Given the description of an element on the screen output the (x, y) to click on. 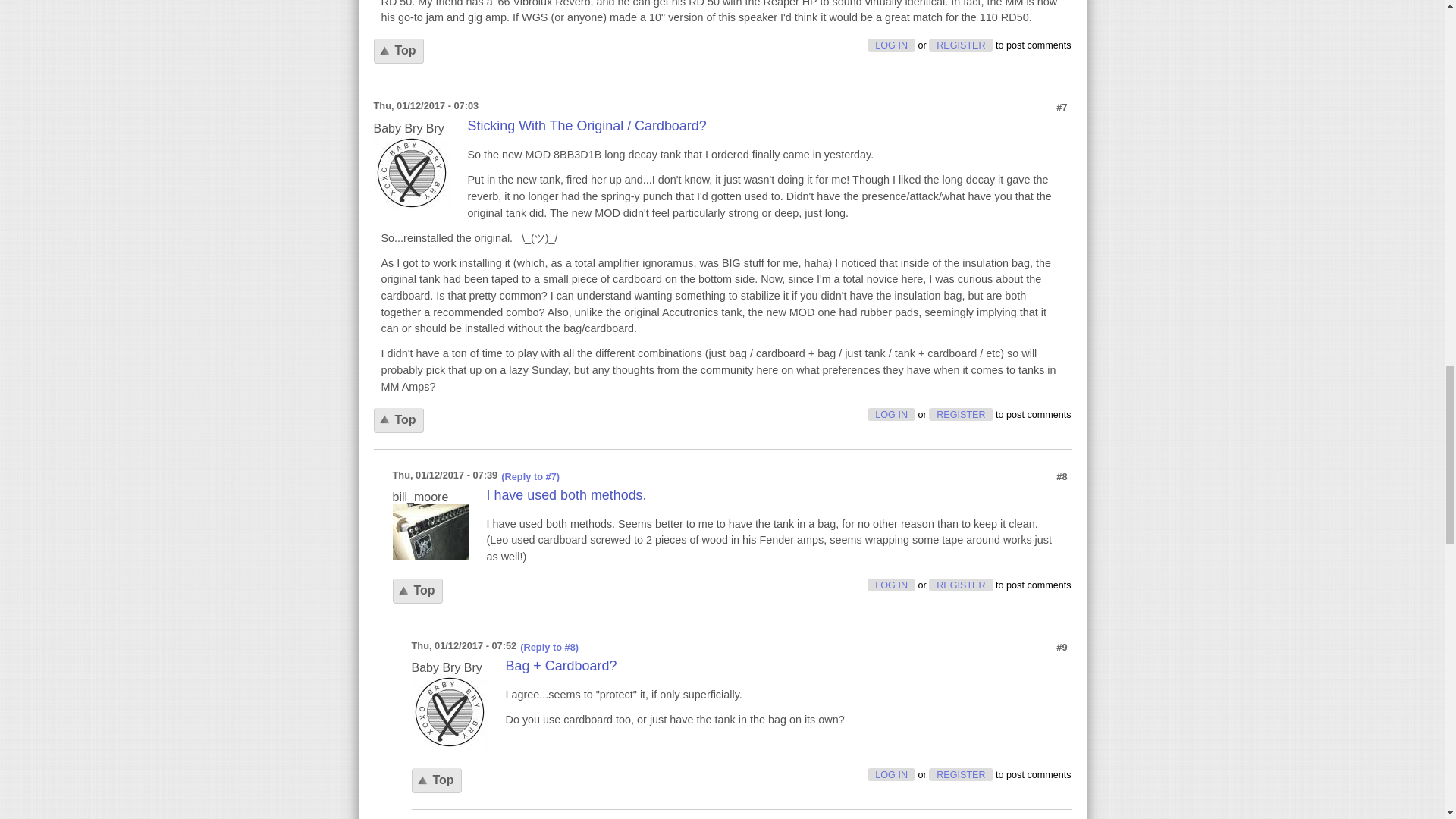
Baby Bry Bry's picture (410, 172)
Jump to top of page (417, 590)
Jump to top of page (397, 420)
Jump to top of page (397, 50)
Baby Bry Bry's picture (448, 712)
Jump to top of page (435, 780)
